Given the description of an element on the screen output the (x, y) to click on. 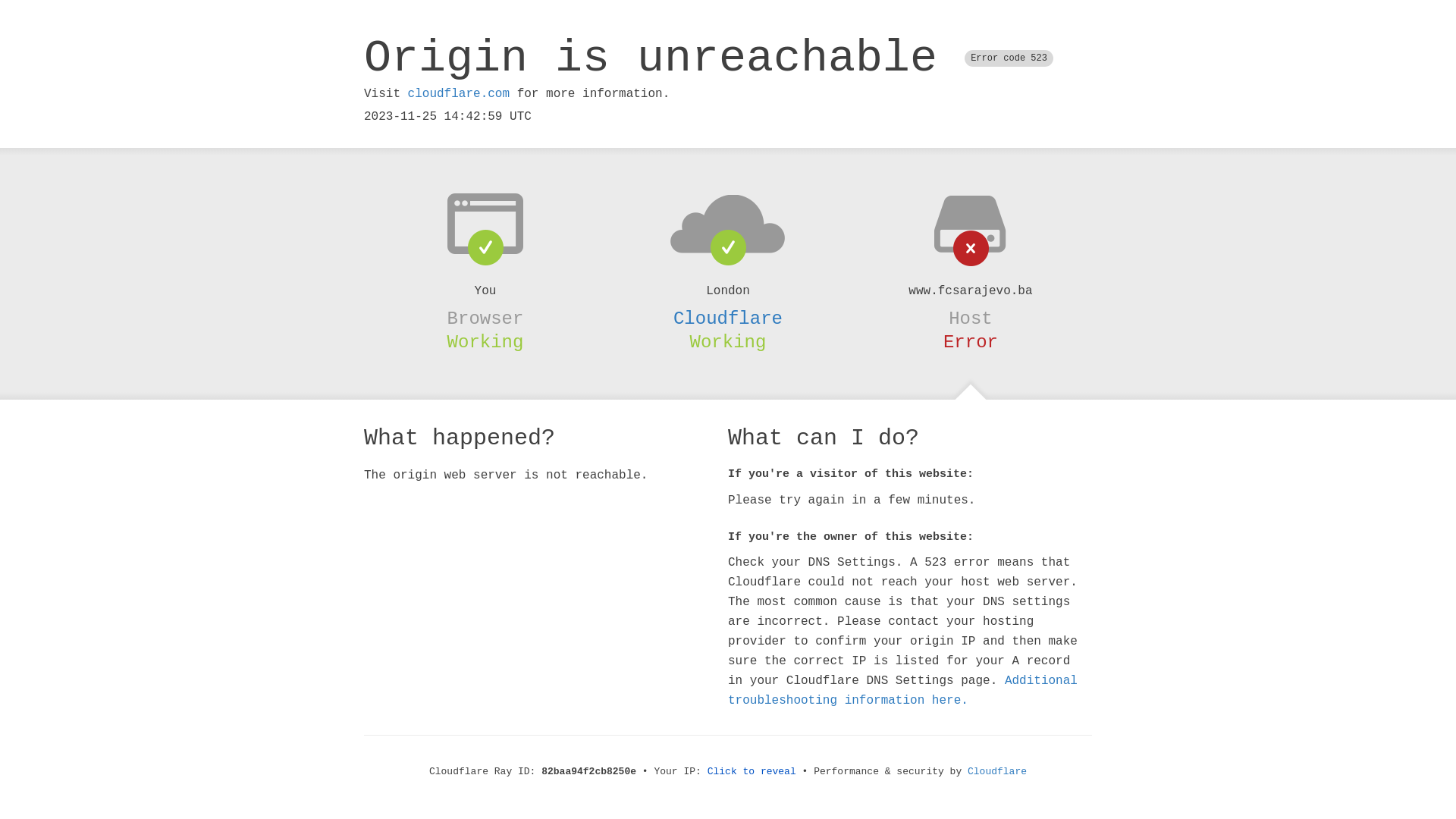
cloudflare.com Element type: text (458, 93)
Additional troubleshooting information here. Element type: text (902, 690)
Click to reveal Element type: text (751, 771)
Cloudflare Element type: text (727, 318)
Cloudflare Element type: text (996, 771)
